Given the description of an element on the screen output the (x, y) to click on. 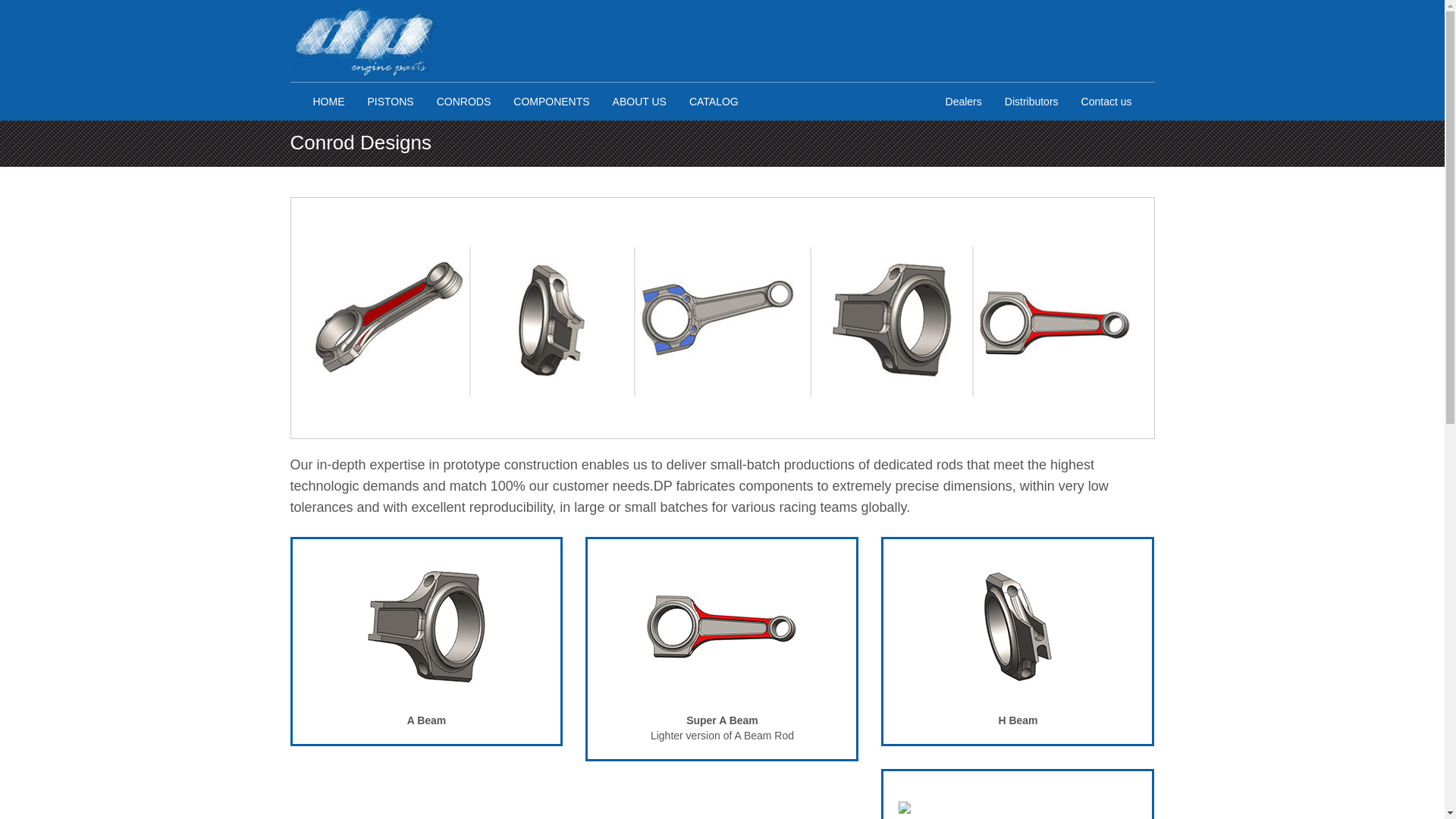
COMPONENTS (550, 101)
CONRODS (463, 101)
Contact us (1106, 101)
Home (364, 40)
CATALOG (713, 101)
Distributors (1031, 101)
PISTONS (390, 101)
Dealers (963, 101)
HOME (328, 101)
